Given the description of an element on the screen output the (x, y) to click on. 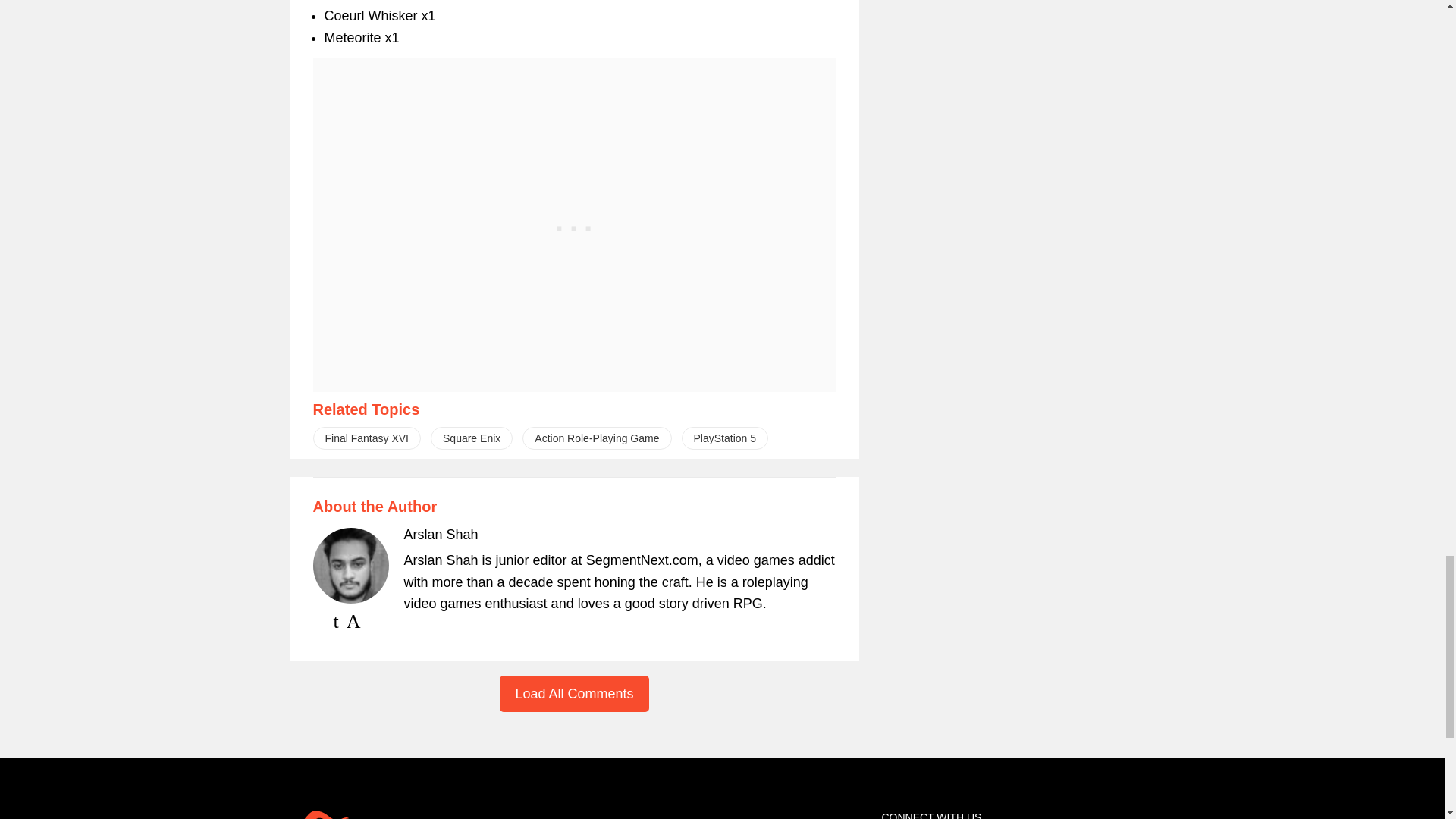
Action Role-Playing Game (596, 437)
Square Enix (471, 437)
Final Fantasy XVI (366, 437)
PlayStation 5 (724, 437)
Arslan Shah (440, 534)
Arslan Shah (440, 534)
